Given the description of an element on the screen output the (x, y) to click on. 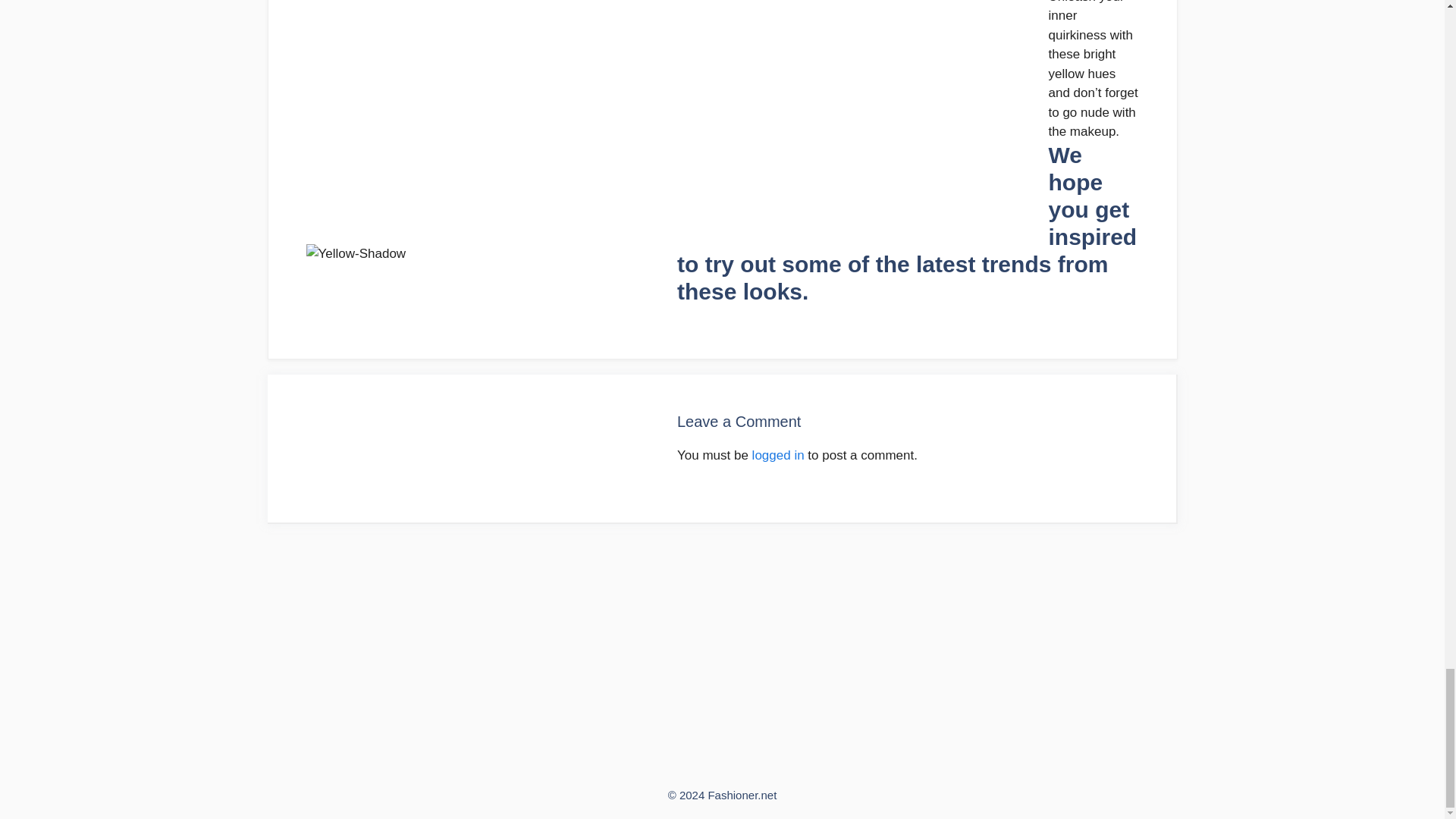
logged in (778, 454)
